Given the description of an element on the screen output the (x, y) to click on. 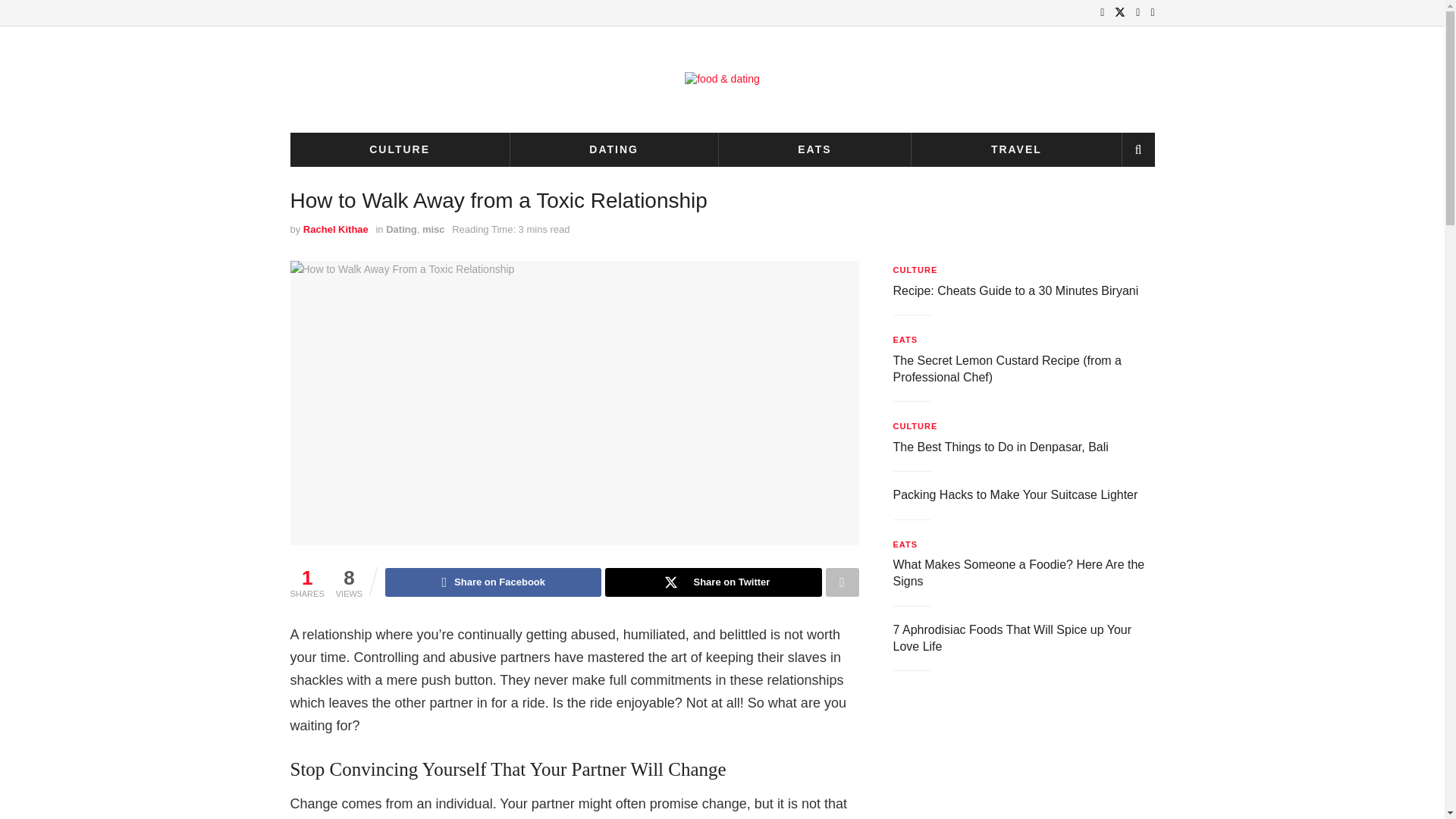
Rachel Kithae (335, 229)
Share on Facebook (493, 582)
CULTURE (915, 269)
EATS (815, 149)
DATING (614, 149)
CULTURE (398, 149)
misc (433, 229)
TRAVEL (1016, 149)
Dating (400, 229)
Share on Twitter (713, 582)
